Given the description of an element on the screen output the (x, y) to click on. 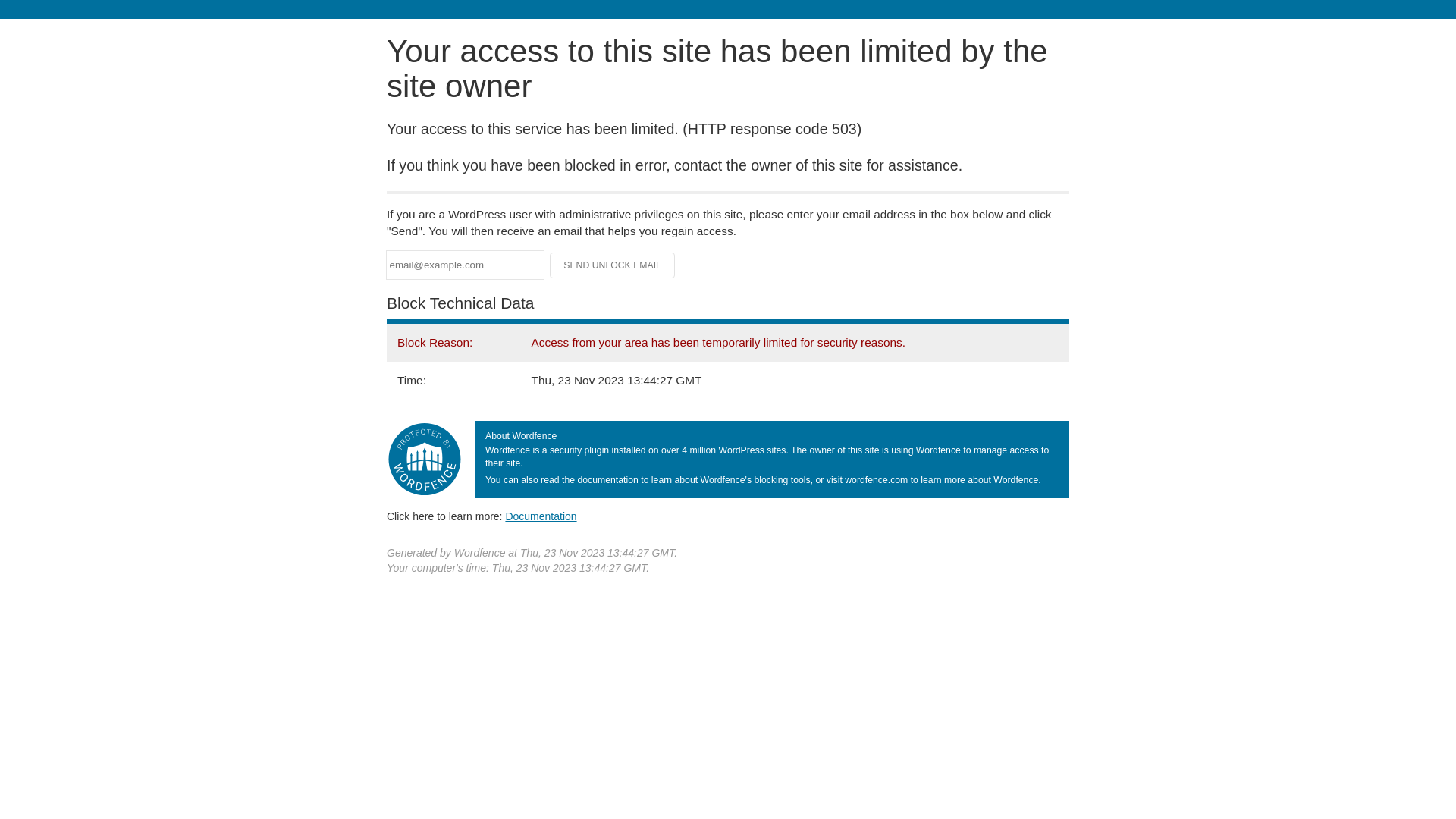
Documentation Element type: text (540, 516)
Send Unlock Email Element type: text (612, 265)
